Given the description of an element on the screen output the (x, y) to click on. 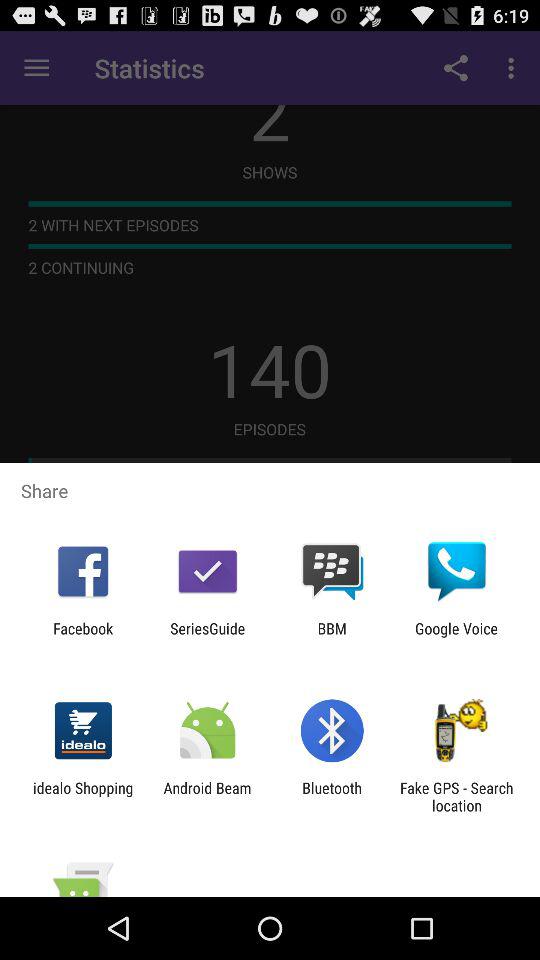
tap the facebook app (83, 637)
